Given the description of an element on the screen output the (x, y) to click on. 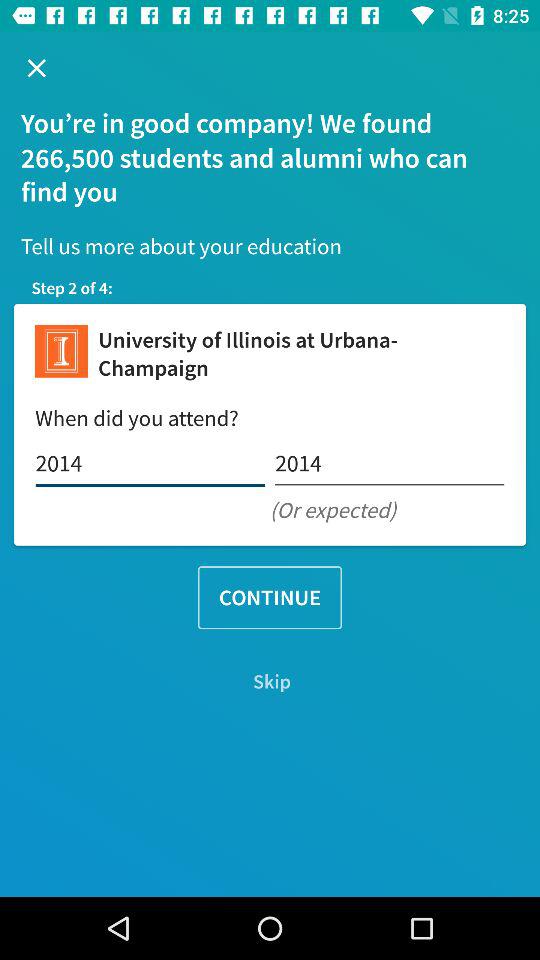
click the item above you re in item (36, 68)
